Given the description of an element on the screen output the (x, y) to click on. 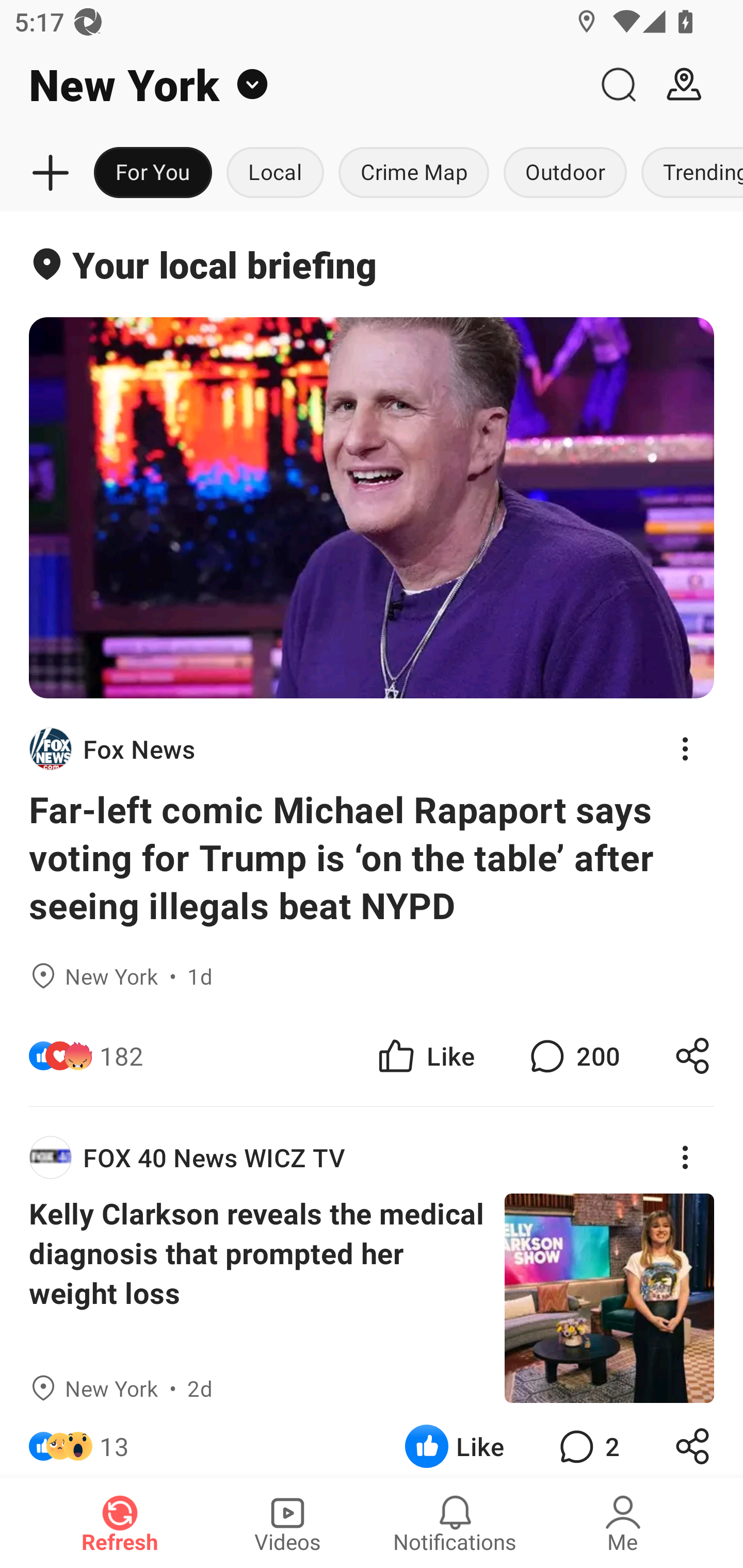
New York (292, 84)
For You (152, 172)
Local (275, 172)
Crime Map (413, 172)
Outdoor (564, 172)
Trending (688, 172)
182 (121, 1055)
Like (425, 1055)
200 (572, 1055)
13 (114, 1440)
Like (454, 1440)
2 (587, 1440)
Videos (287, 1522)
Notifications (455, 1522)
Me (622, 1522)
